Given the description of an element on the screen output the (x, y) to click on. 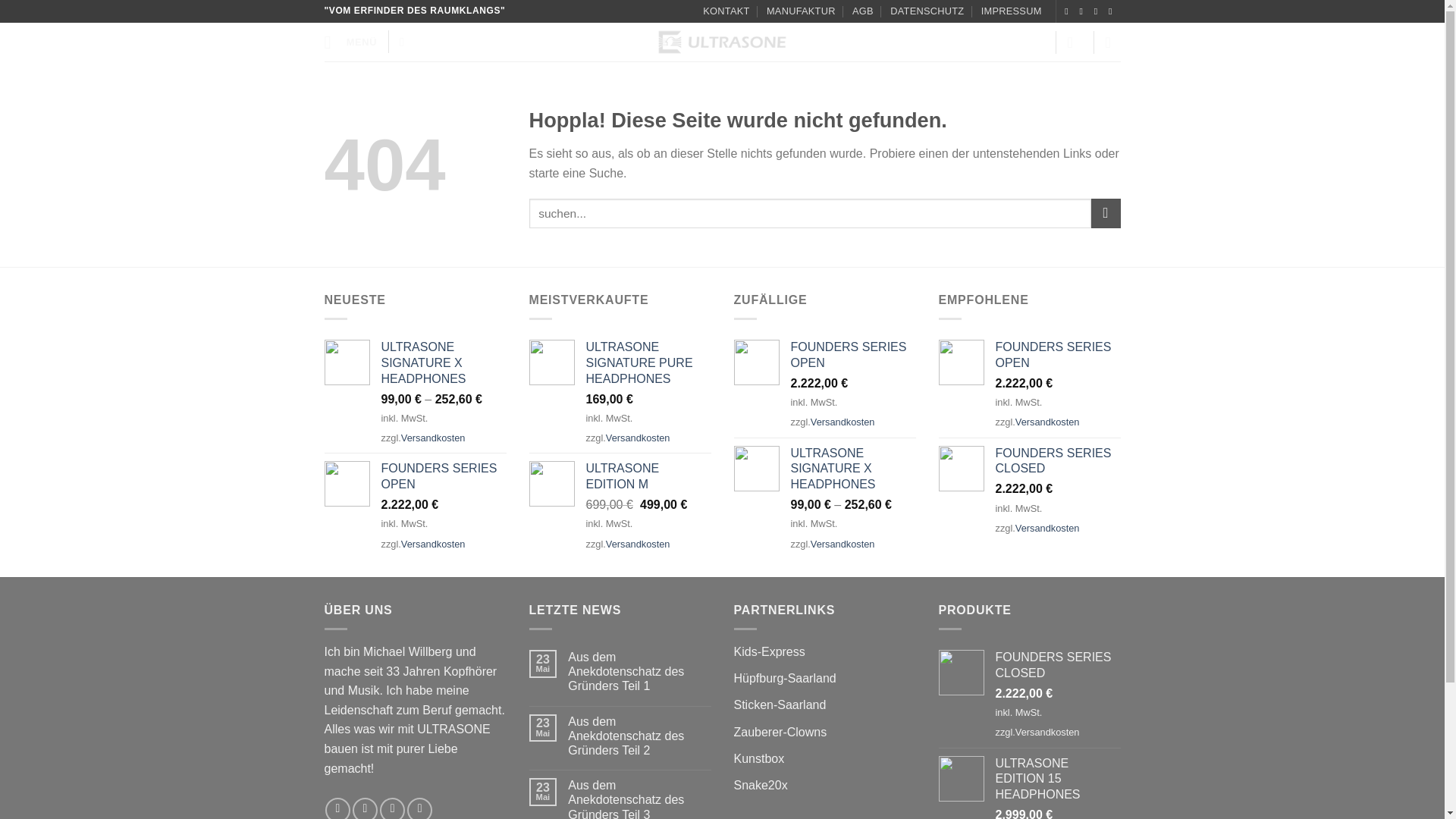
Auf YouTube folgen (419, 808)
Auf Instagram folgen (364, 808)
Versandkosten (433, 437)
FOUNDERS SERIES CLOSED (1056, 461)
ULTRASONE EDITION M (647, 477)
Auf Facebook folgen (337, 808)
IMPRESSUM (1011, 11)
FOUNDERS SERIES OPEN (442, 477)
AGB (862, 11)
ULTRASONE SIGNATURE X HEADPHONES (442, 362)
